Given the description of an element on the screen output the (x, y) to click on. 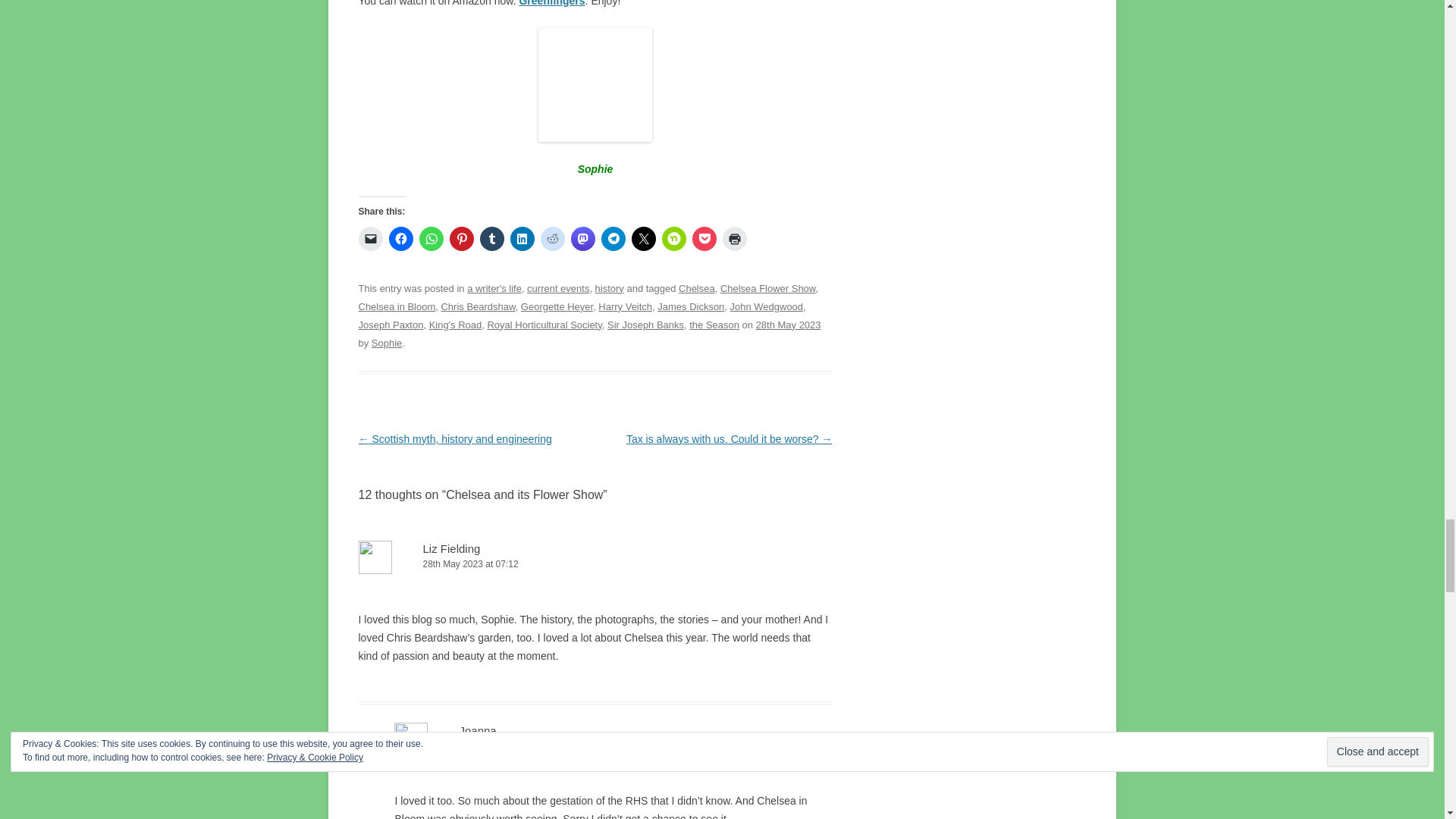
Click to share on Mastodon (582, 238)
Click to share on Tumblr (491, 238)
Click to share on LinkedIn (521, 238)
Click to share on WhatsApp (430, 238)
Click to share on Nextdoor (673, 238)
Click to share on Facebook (400, 238)
Click to email a link to a friend (369, 238)
Click to share on Telegram (611, 238)
Click to print (733, 238)
Click to share on X (642, 238)
Click to share on Pinterest (460, 238)
Click to share on Reddit (552, 238)
Click to share on Pocket (703, 238)
